Given the description of an element on the screen output the (x, y) to click on. 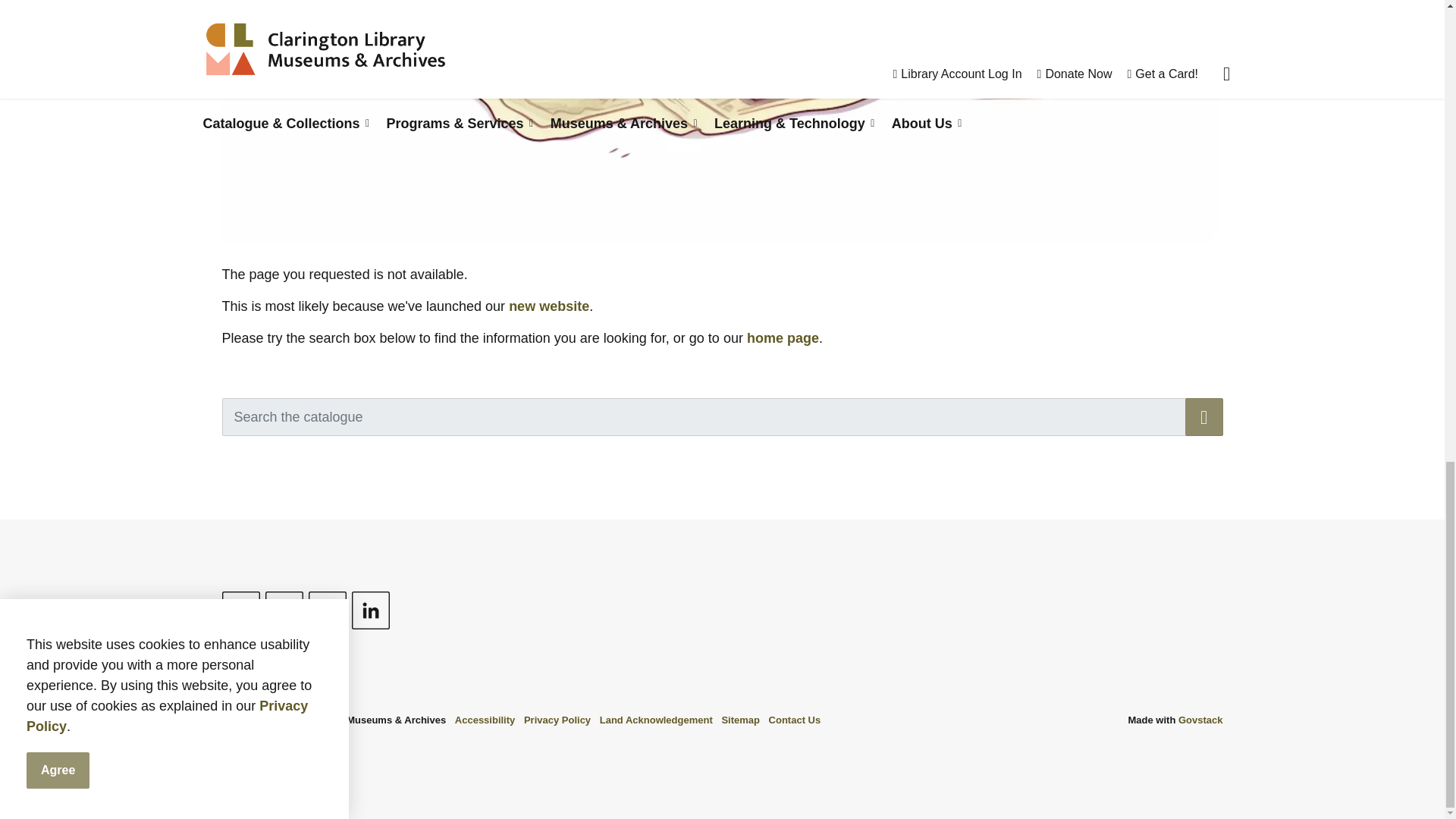
Home (782, 337)
Home (548, 305)
